Given the description of an element on the screen output the (x, y) to click on. 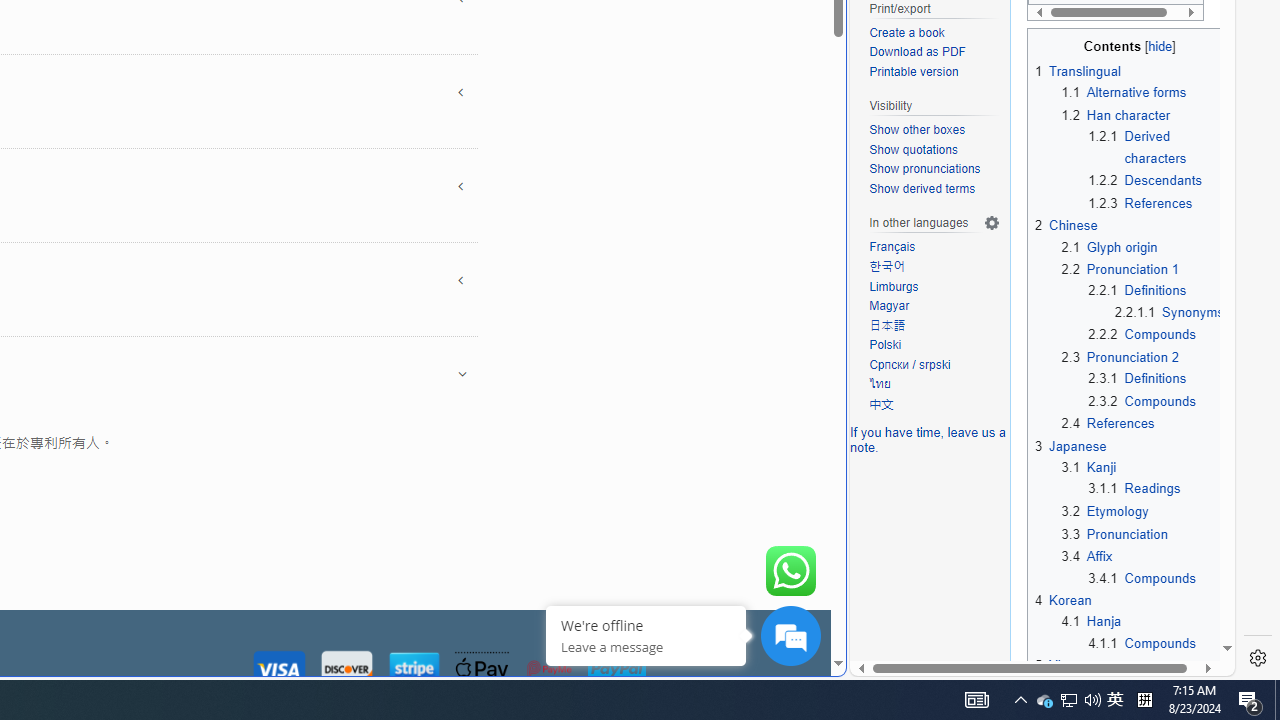
1.2.3References (1156, 202)
Polski (885, 344)
3.1Kanji3.1.1Readings (1142, 478)
3.2 Etymology (1105, 511)
Printable version (934, 71)
2.2.1Definitions2.2.1.1Synonyms (1156, 301)
4.1Hanja4.1.1Compounds (1142, 632)
Show derived terms (922, 187)
2.3.2 Compounds (1142, 400)
2.4References (1142, 423)
2.3Pronunciation 22.3.1Definitions2.3.2Compounds (1142, 378)
1.2.1Derived characters (1156, 147)
